Given the description of an element on the screen output the (x, y) to click on. 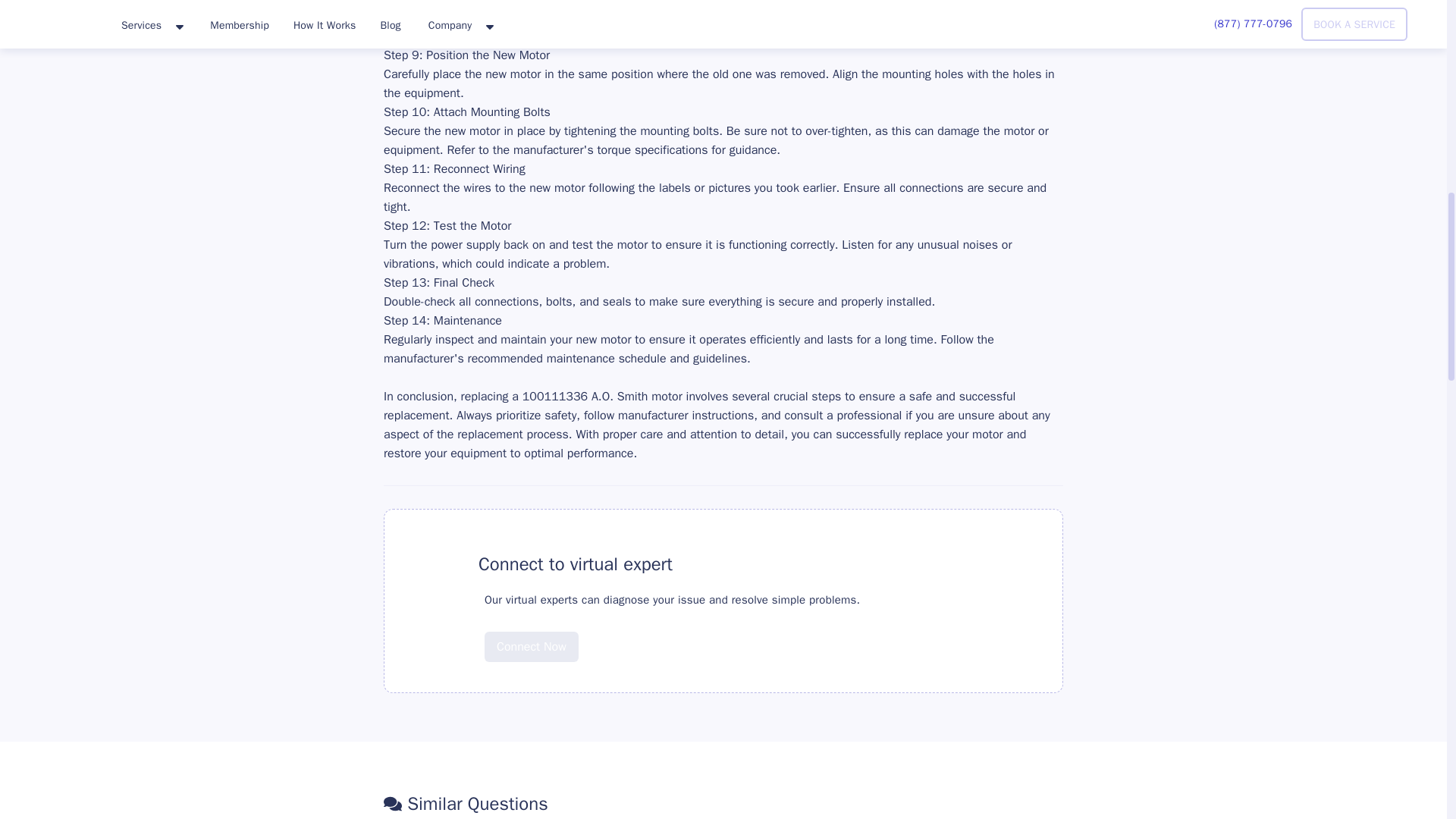
Connect Now (531, 635)
FAQ (438, 563)
Connect Now (531, 646)
